Given the description of an element on the screen output the (x, y) to click on. 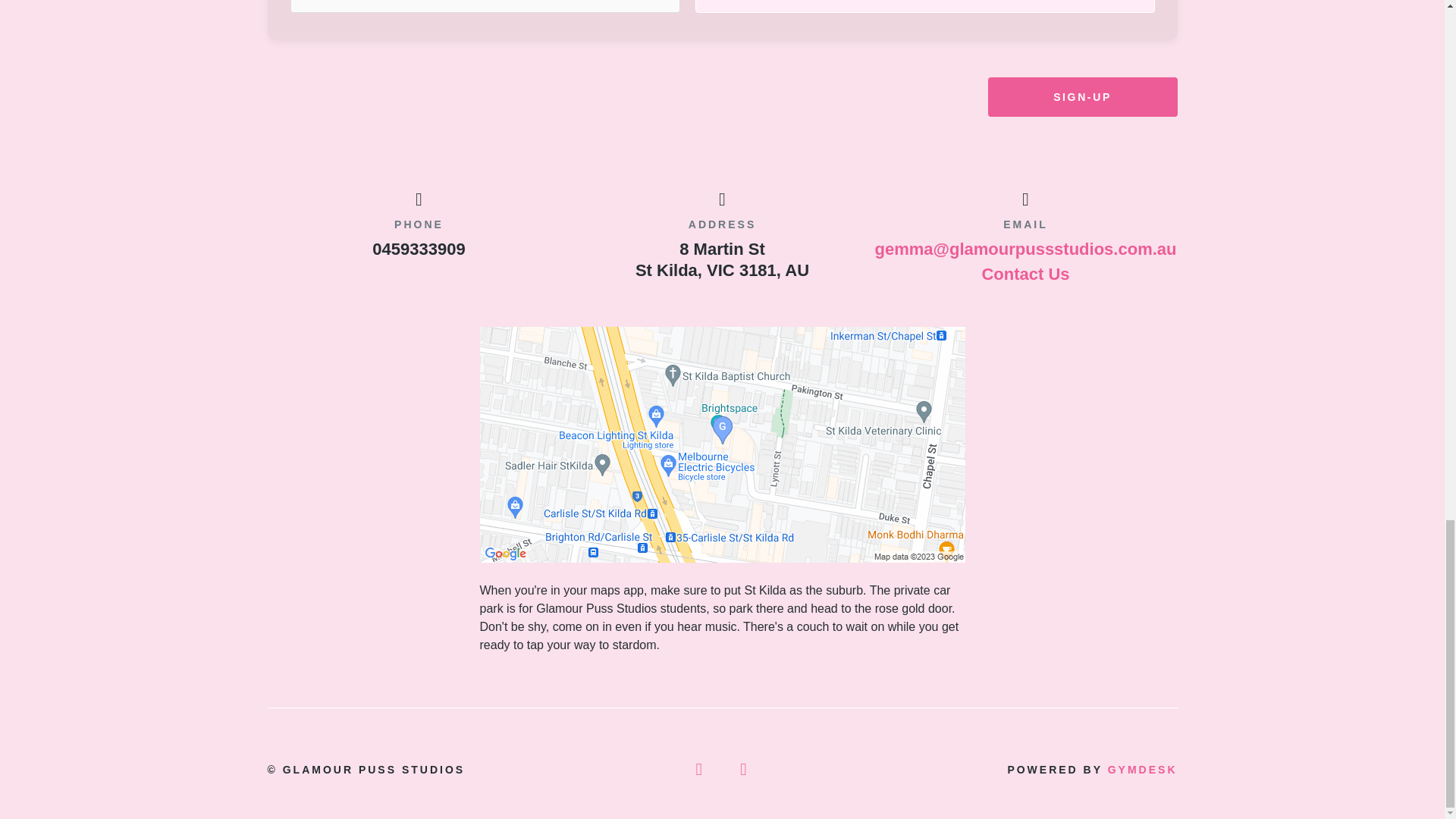
GYMDESK (1142, 769)
Facebook (700, 769)
Contact Us (1024, 273)
SIGN-UP (1081, 96)
Instagram (744, 769)
